Given the description of an element on the screen output the (x, y) to click on. 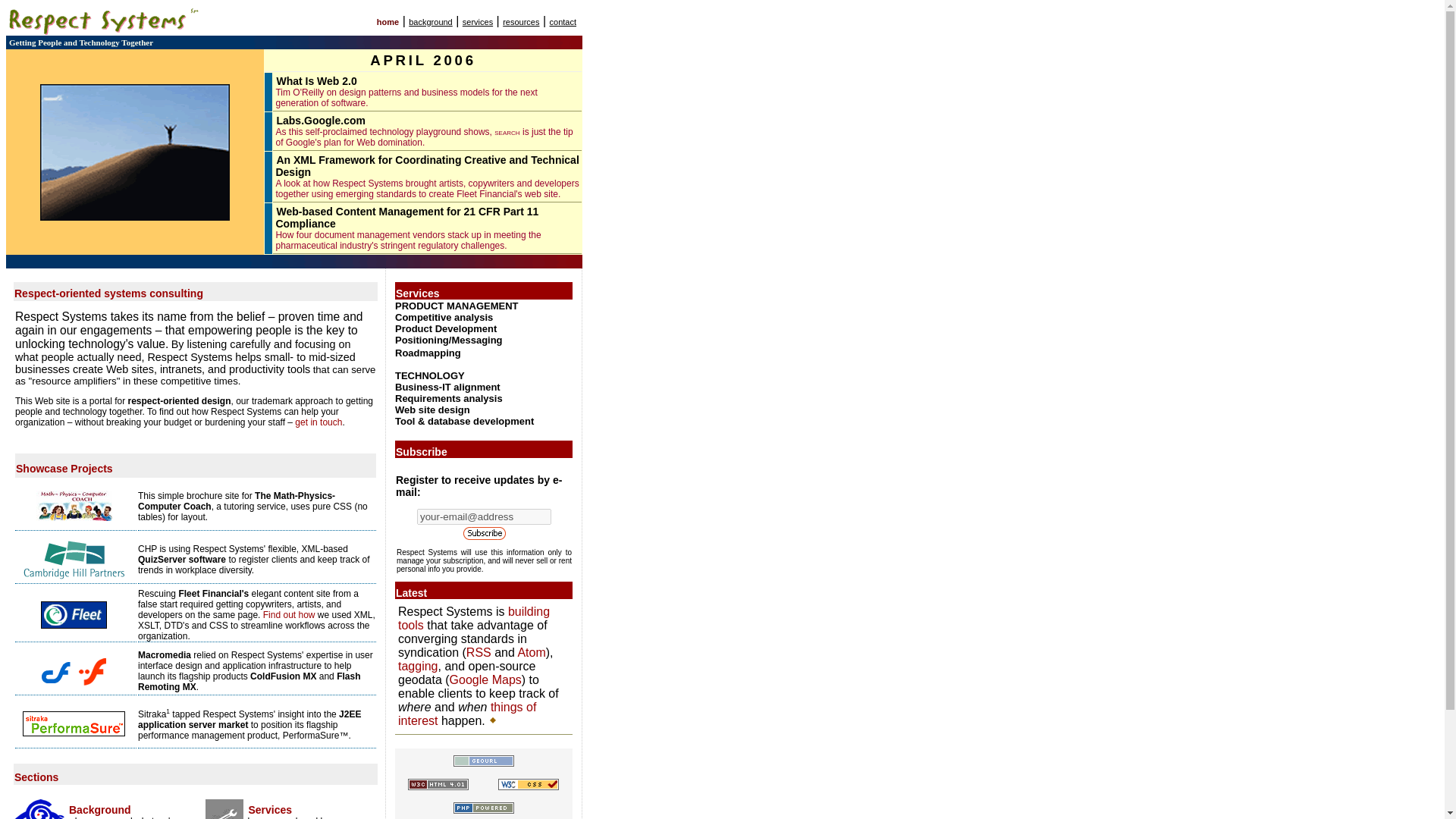
get in touch (318, 421)
tagging (417, 666)
things of interest (466, 714)
Find out how (289, 614)
resources (520, 20)
help launch (245, 670)
See a list of our physical neighbors (482, 760)
Showcase Projects (64, 468)
Submit (484, 531)
building tools (473, 618)
services (478, 20)
Background (99, 809)
Services (269, 809)
